Given the description of an element on the screen output the (x, y) to click on. 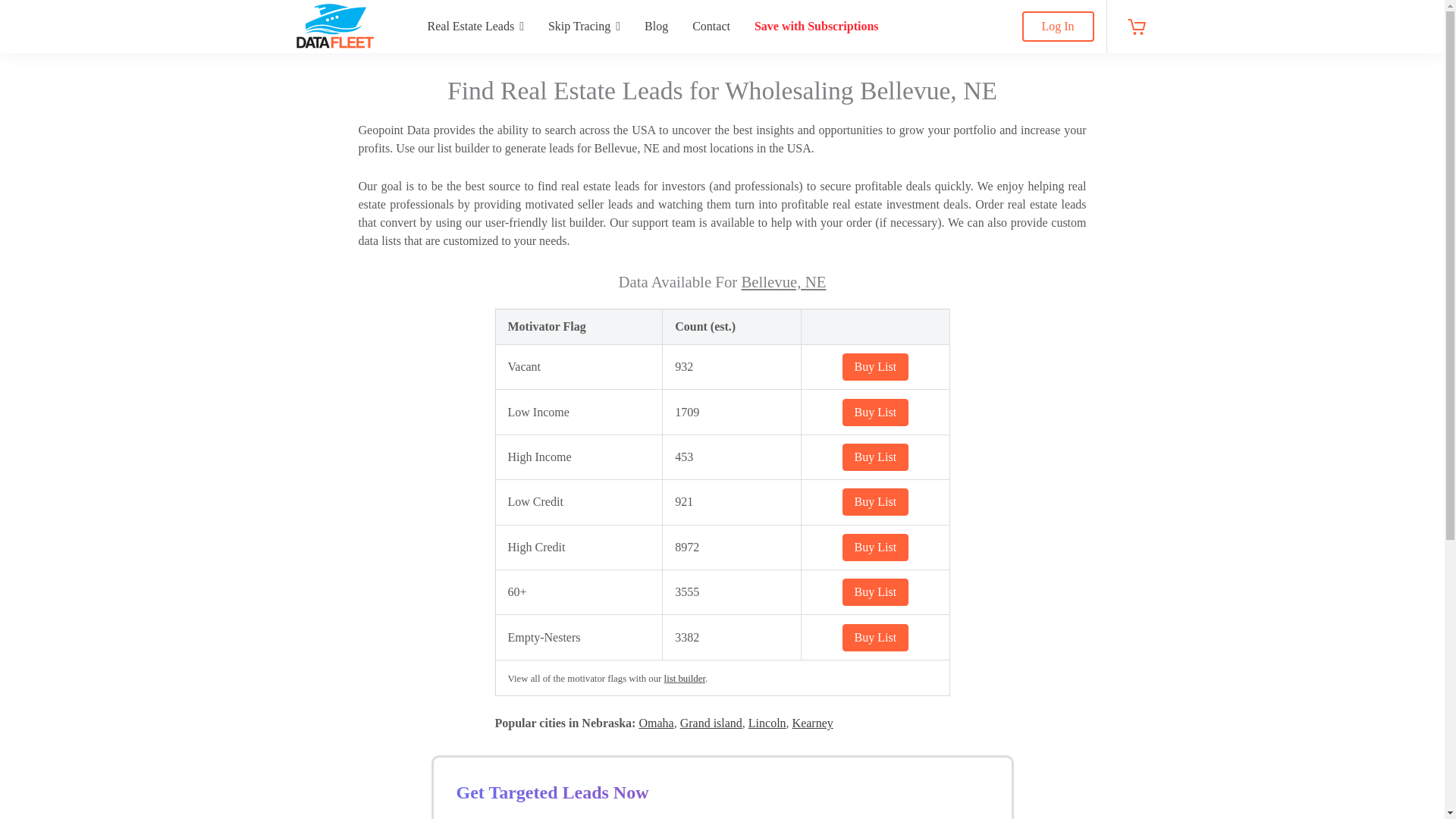
Blog (655, 26)
Lincoln (767, 722)
Log In (1058, 26)
Contact (710, 26)
Buy List (875, 501)
Real Estate Leads (474, 26)
Buy List (875, 592)
Buy List (875, 636)
Buy List (875, 547)
Buy List (875, 366)
